Given the description of an element on the screen output the (x, y) to click on. 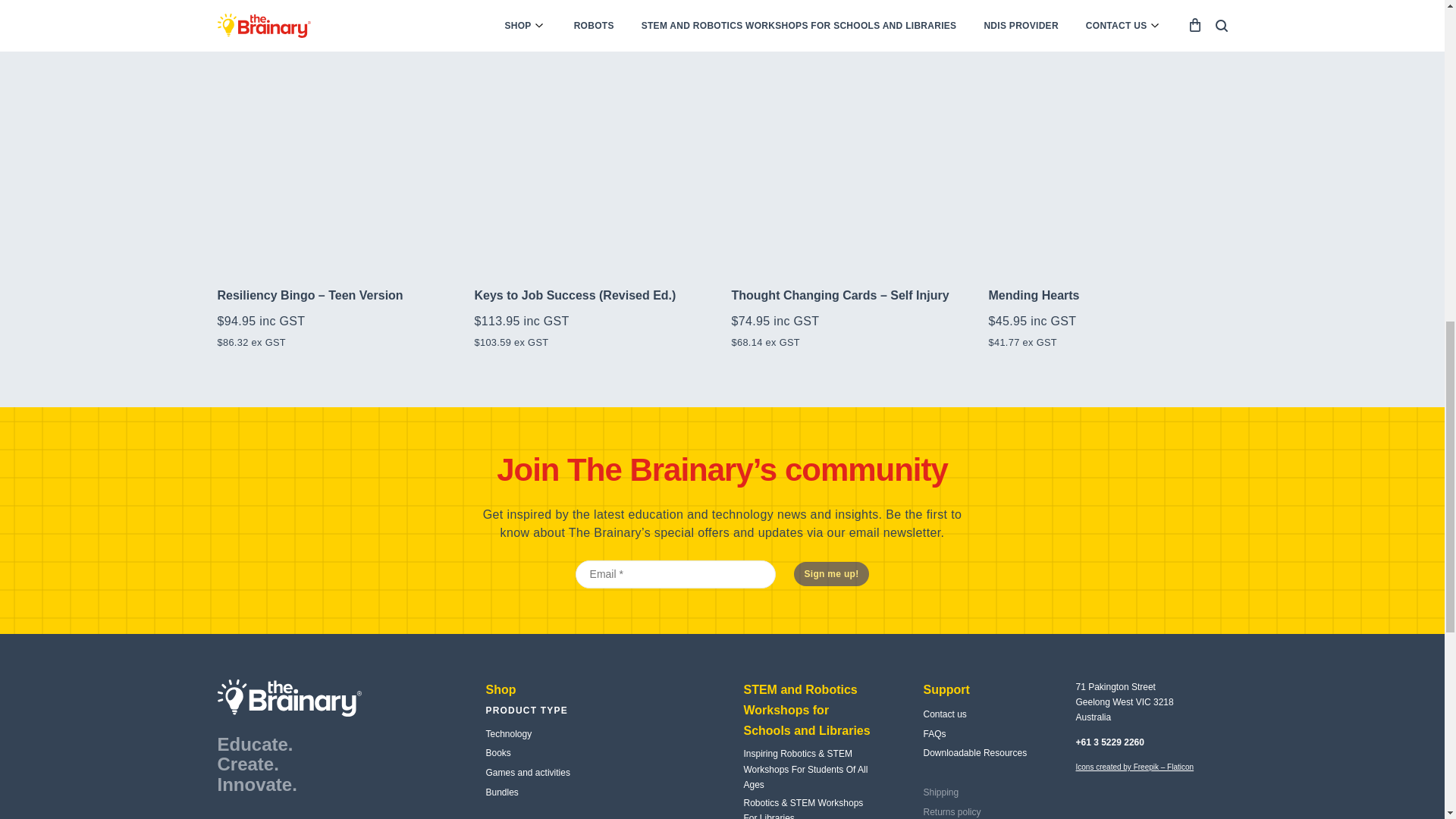
Sign me up! (831, 573)
machine learning icons (1134, 766)
